Given the description of an element on the screen output the (x, y) to click on. 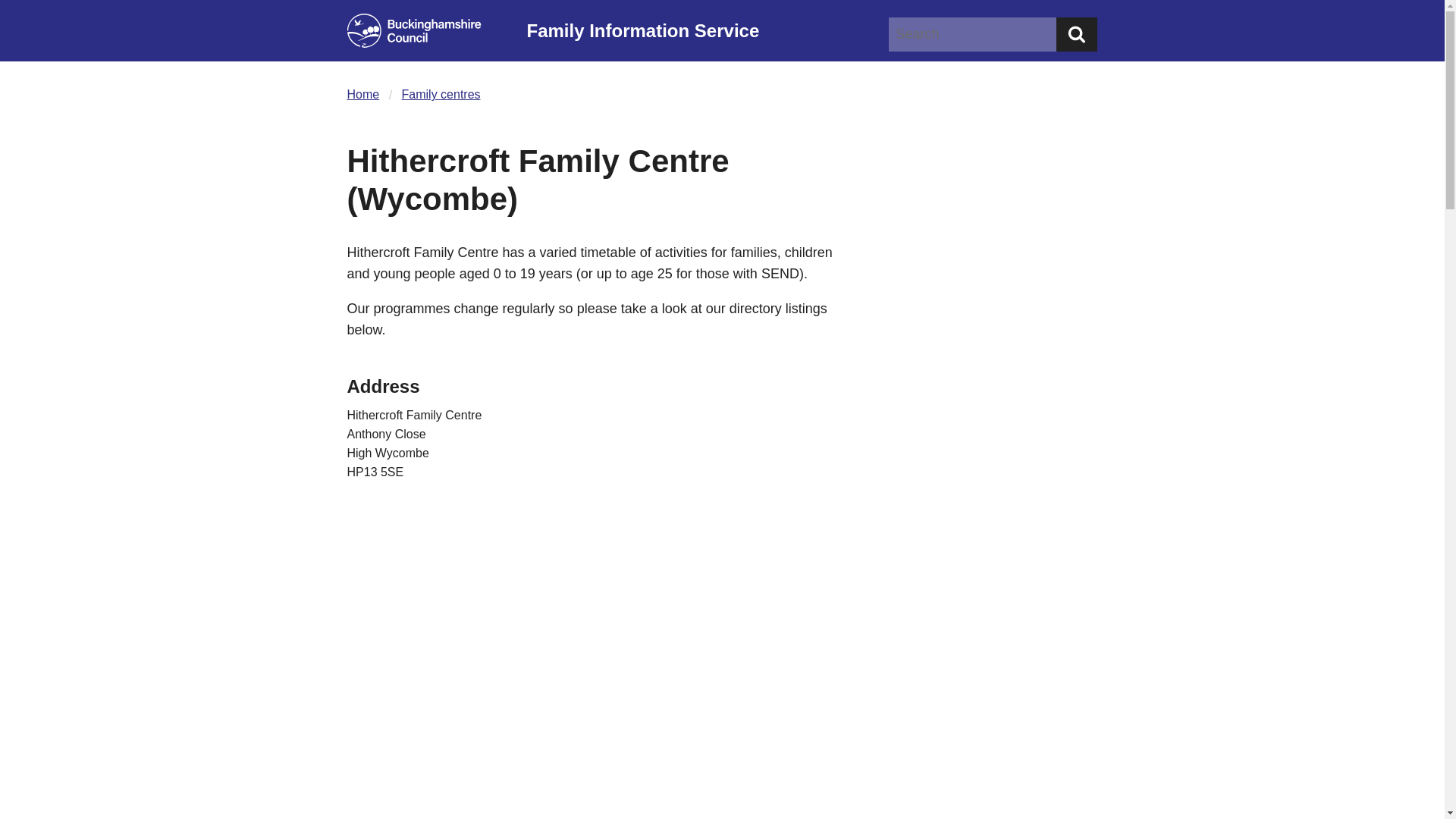
Family Information Service (702, 30)
Family centres (440, 94)
Home (363, 94)
